Given the description of an element on the screen output the (x, y) to click on. 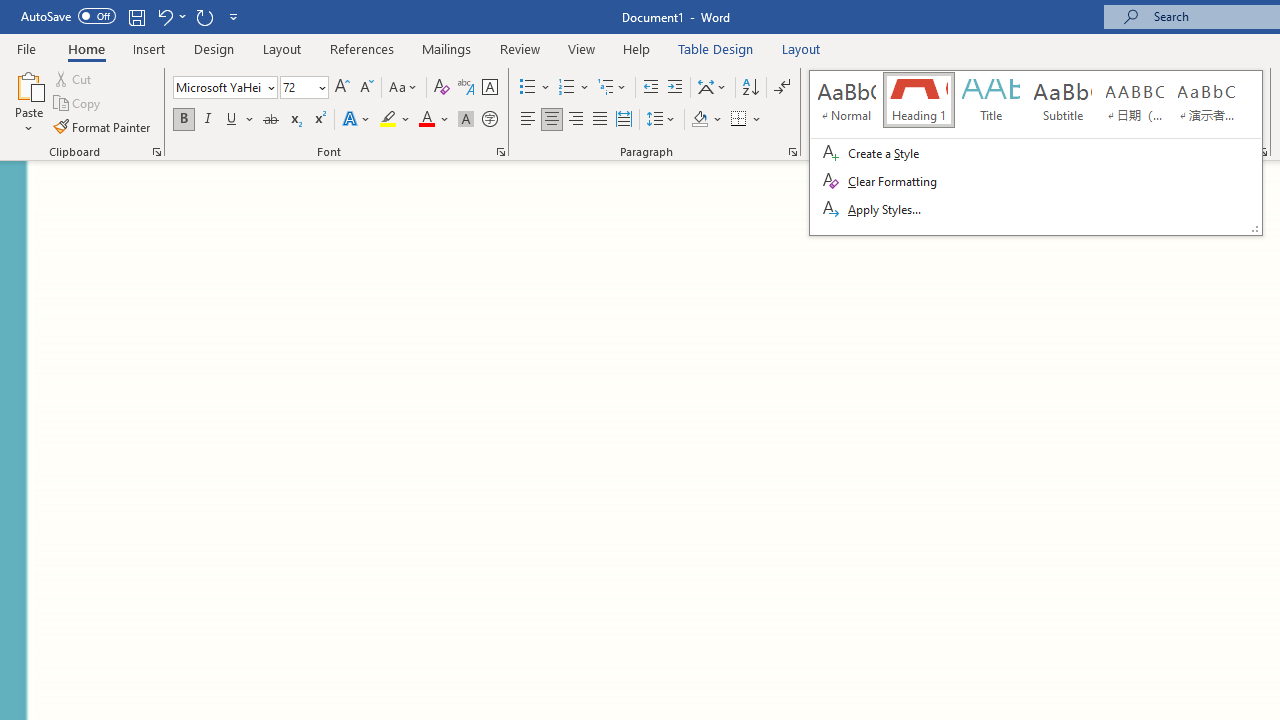
Text Effects and Typography (357, 119)
Multilevel List (613, 87)
Show/Hide Editing Marks (781, 87)
Strikethrough (270, 119)
Shrink Font (365, 87)
Office Clipboard... (156, 151)
Change Case (404, 87)
Bold (183, 119)
